Given the description of an element on the screen output the (x, y) to click on. 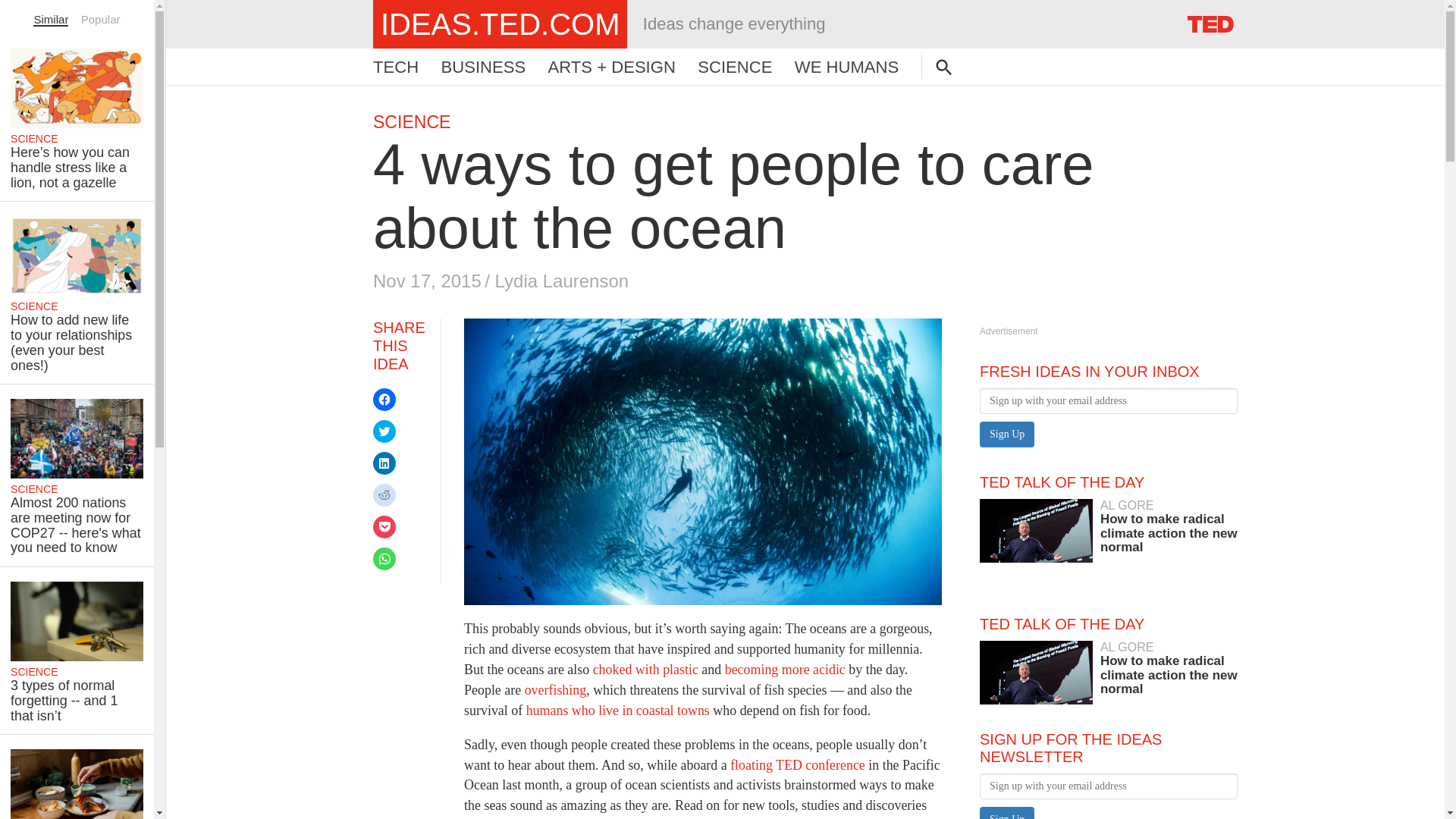
SCIENCE (734, 66)
Click to share on WhatsApp (384, 558)
becoming more acidic (785, 669)
floating TED conference (797, 764)
humans who live in coastal towns (617, 710)
Search (29, 11)
choked with plastic (645, 669)
SCIENCE (410, 121)
Click to share on Facebook (384, 399)
Sign Up (1006, 434)
